Given the description of an element on the screen output the (x, y) to click on. 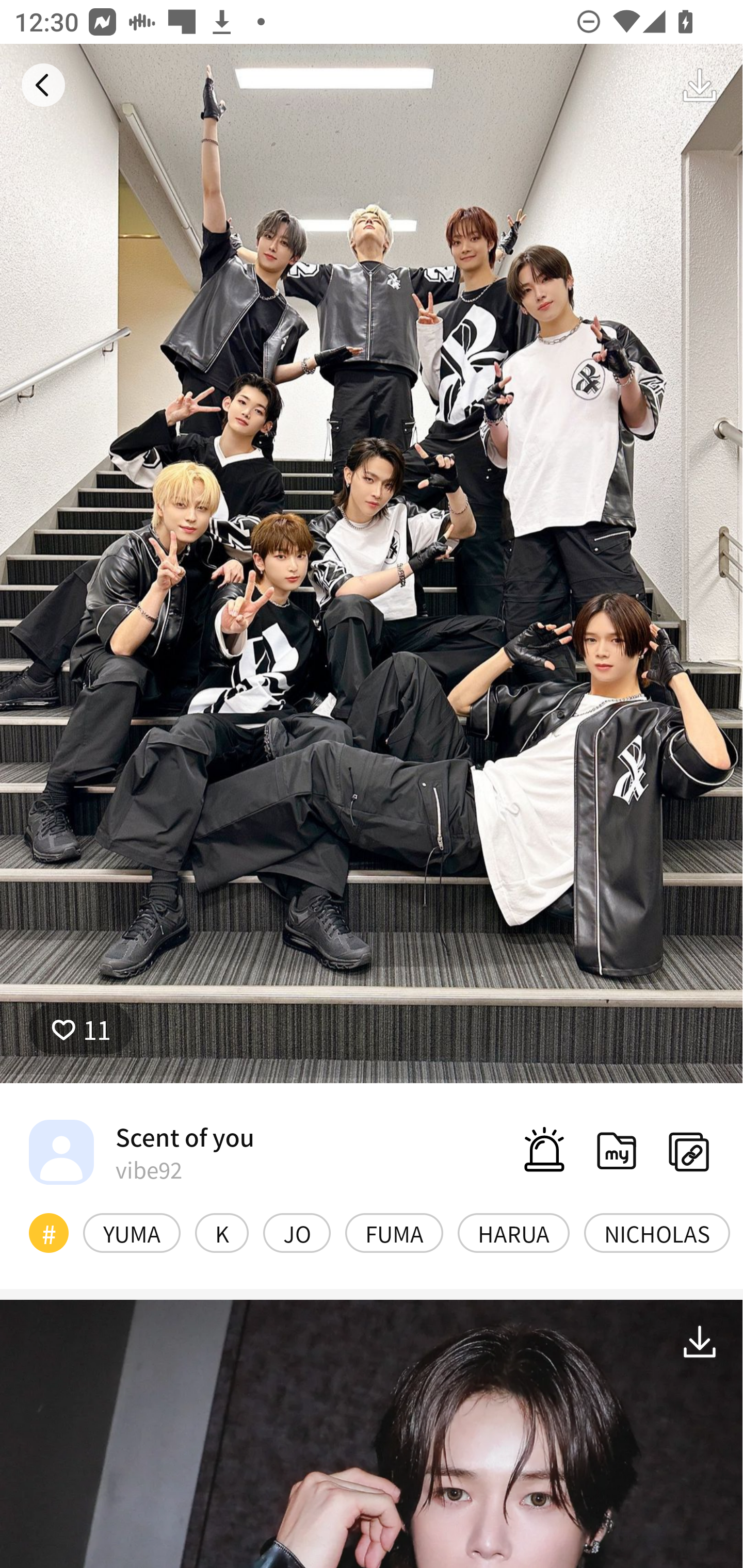
11 (80, 1029)
Scent of you vibe92 (141, 1151)
YUMA (131, 1232)
K (221, 1232)
JO (296, 1232)
FUMA (394, 1232)
HARUA (513, 1232)
NICHOLAS (656, 1232)
